Given the description of an element on the screen output the (x, y) to click on. 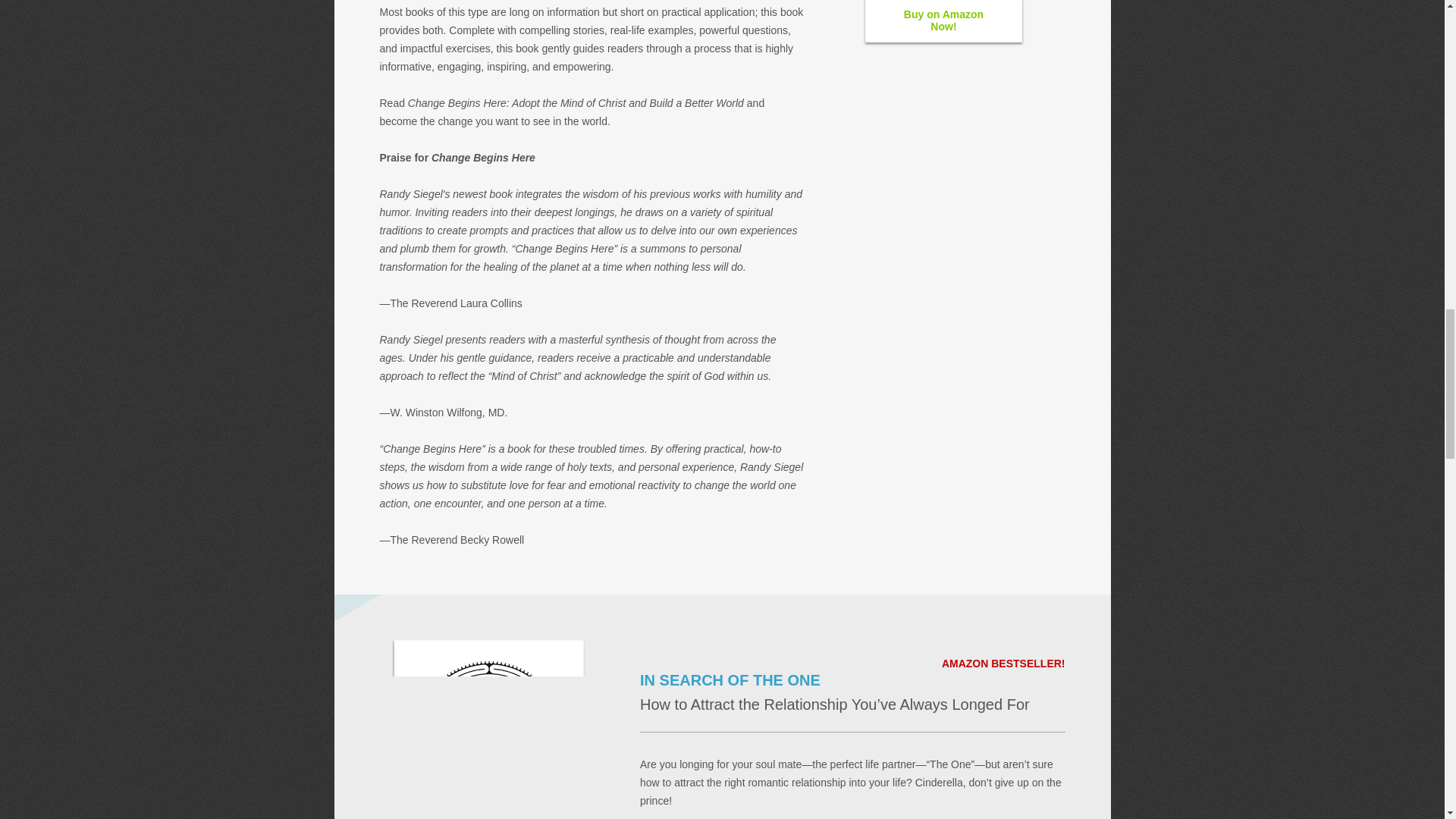
Buy on Amazon Now! (943, 21)
